Given the description of an element on the screen output the (x, y) to click on. 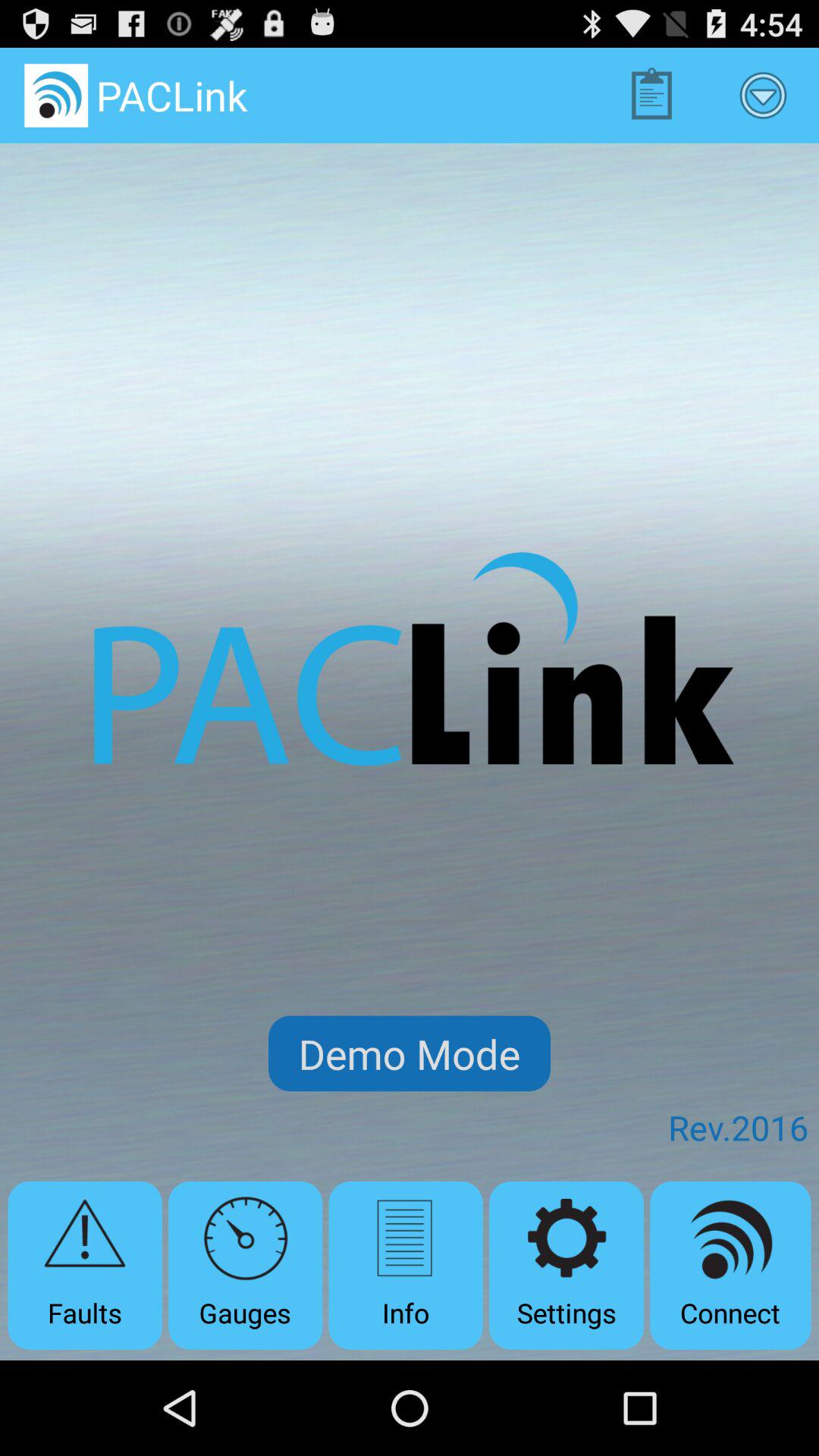
choose gauges icon (245, 1265)
